Given the description of an element on the screen output the (x, y) to click on. 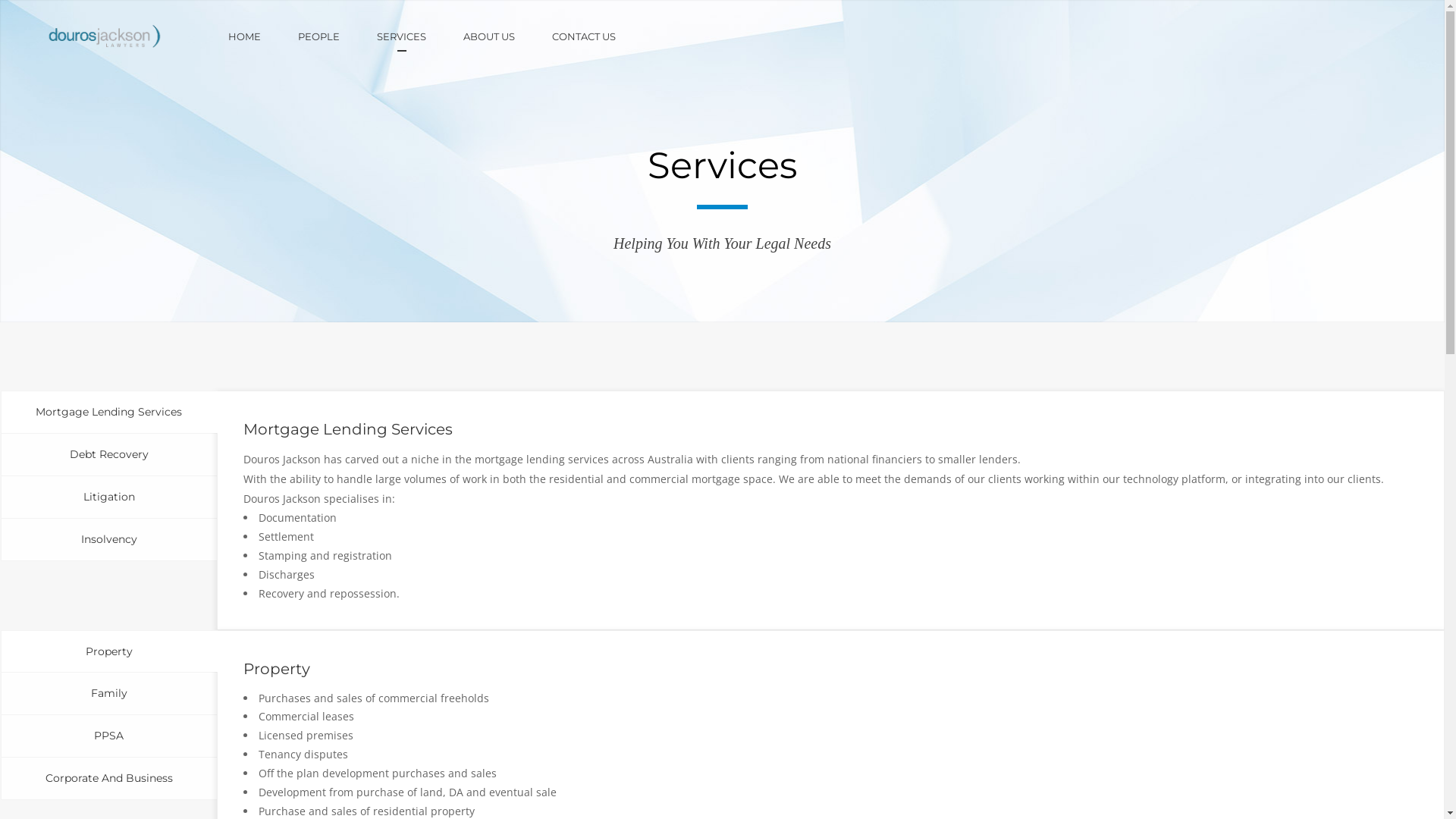
SERVICES Element type: text (419, 36)
Insolvency Element type: text (108, 539)
Corporate And Business Element type: text (108, 778)
Debt Recovery Element type: text (108, 454)
  Element type: text (672, 36)
PEOPLE Element type: text (337, 36)
PPSA Element type: text (108, 735)
HOME Element type: text (263, 36)
Property Element type: text (108, 651)
CONTACT US Element type: text (602, 36)
ABOUT US Element type: text (507, 36)
Family Element type: text (108, 693)
Litigation Element type: text (108, 496)
Mortgage Lending Services Element type: text (108, 412)
